Given the description of an element on the screen output the (x, y) to click on. 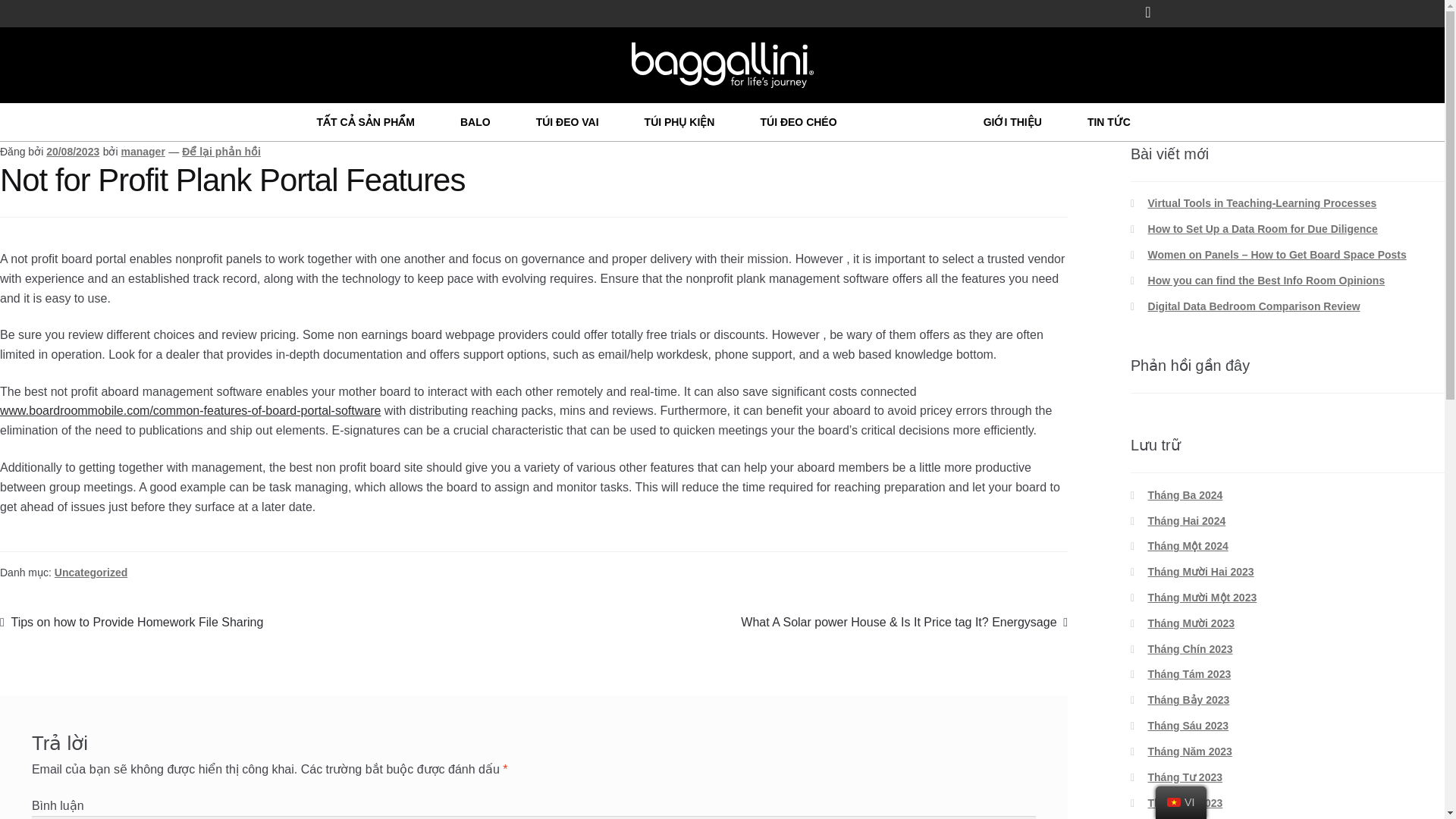
BALO (475, 121)
manager (142, 151)
Tips on how to Provide Homework File Sharing (131, 622)
Uncategorized (91, 572)
